Given the description of an element on the screen output the (x, y) to click on. 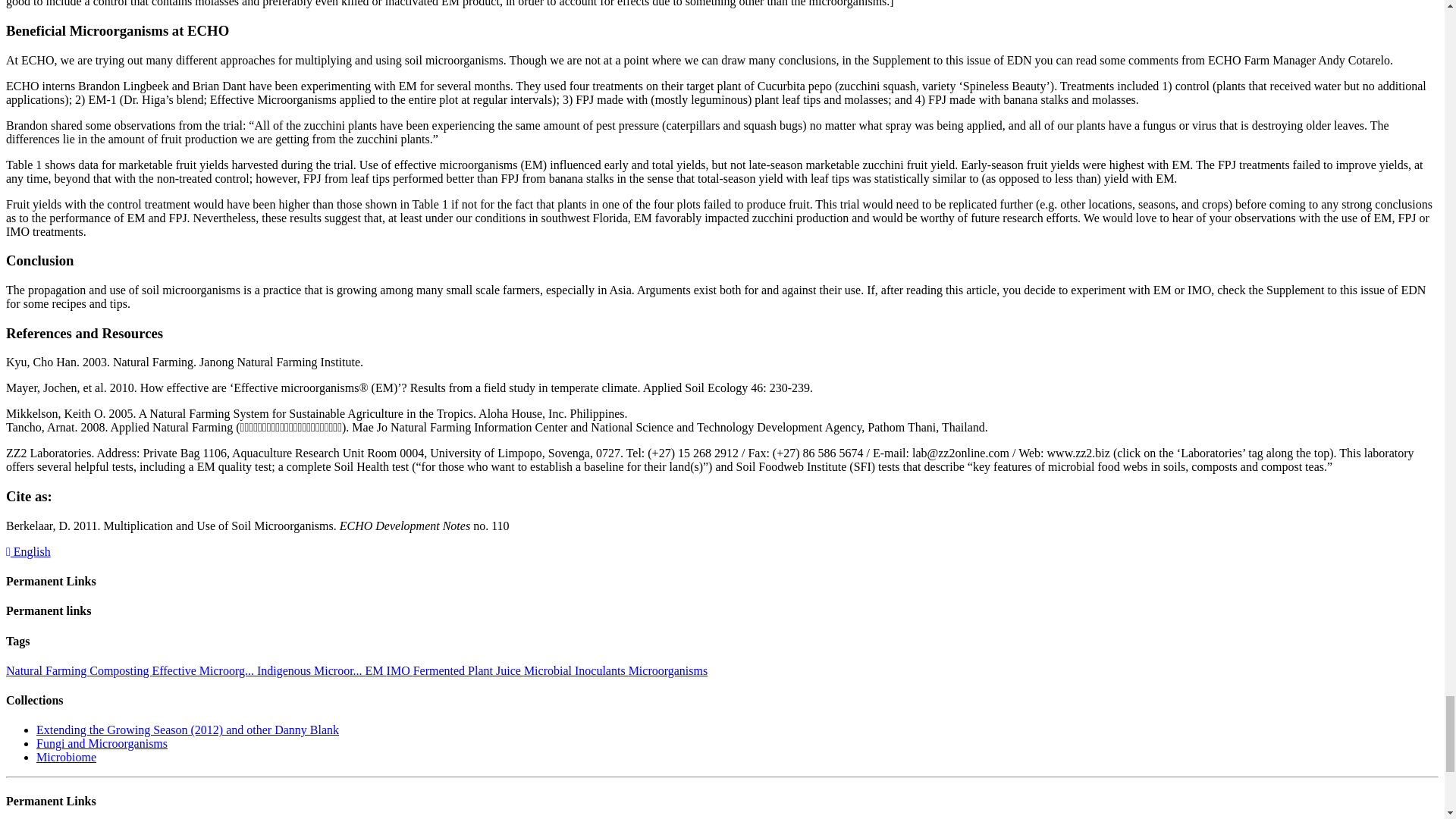
EM (376, 670)
Composting (119, 670)
Fungi and Microorganisms (101, 743)
Effective Microorganisms (203, 670)
Microorganisms (667, 670)
Microbiome (66, 757)
Fermented Plant Juice (468, 670)
IMO (400, 670)
Natural Farming (46, 670)
Microbial Inoculants (576, 670)
